Given the description of an element on the screen output the (x, y) to click on. 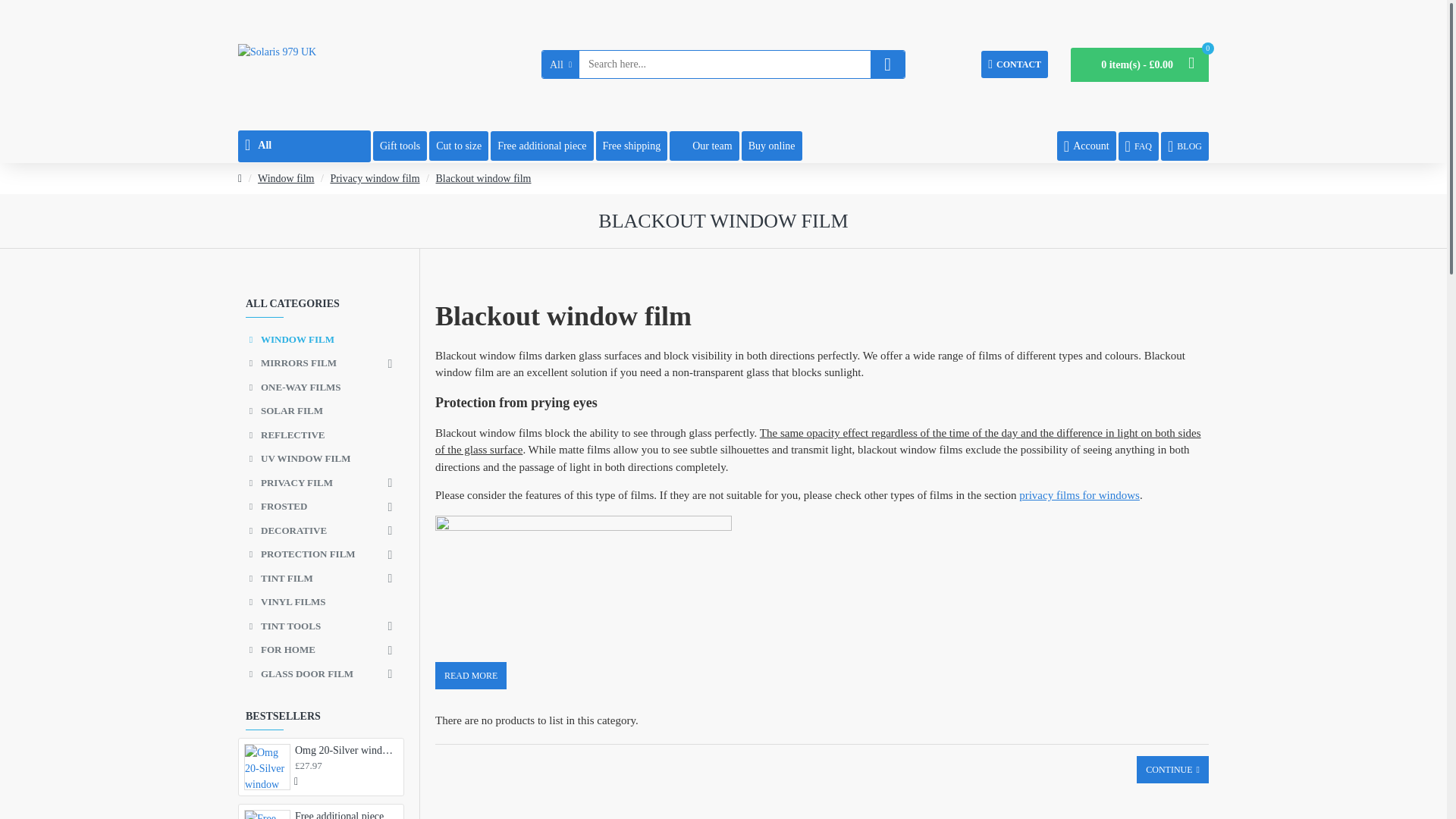
CONTACT (1014, 63)
Add to Cart (296, 781)
Free additional piece (266, 814)
Omg 20-Silver window film (266, 766)
Solaris 979 UK (276, 64)
All (304, 146)
